Given the description of an element on the screen output the (x, y) to click on. 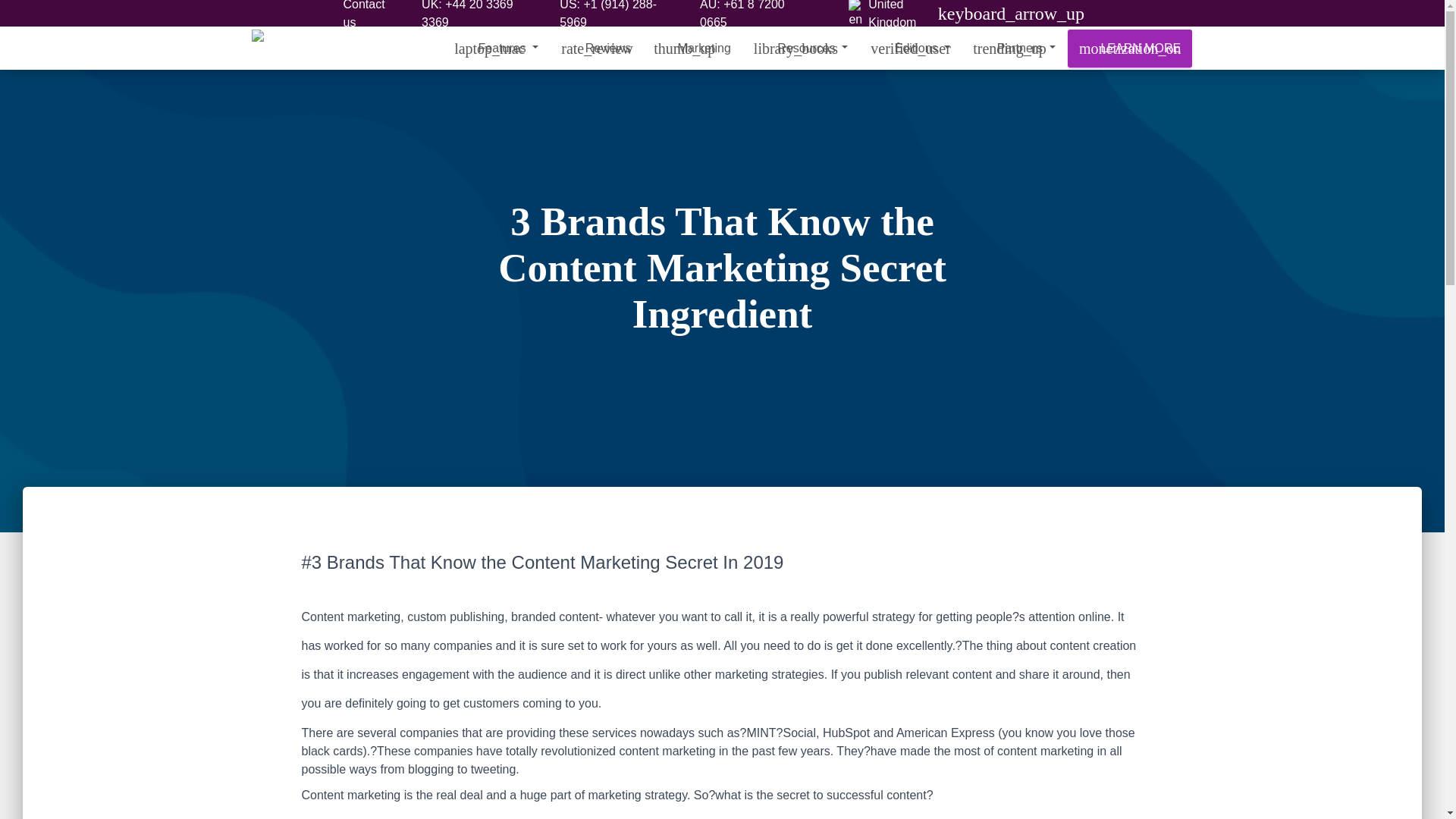
Contact us (369, 17)
